Given the description of an element on the screen output the (x, y) to click on. 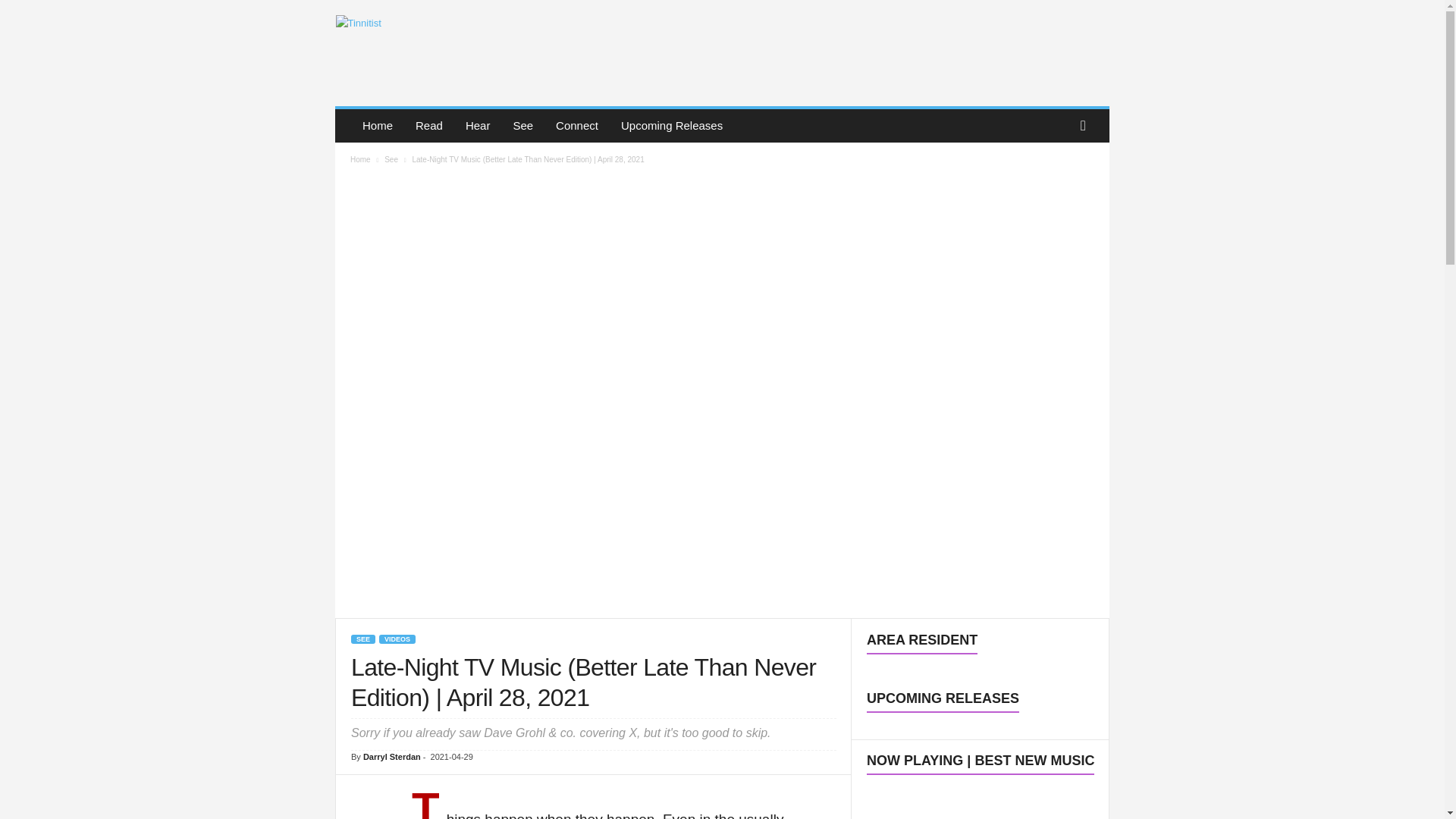
Home (377, 125)
Tinnitist (437, 49)
Tinnitist (437, 48)
Read (429, 125)
